Given the description of an element on the screen output the (x, y) to click on. 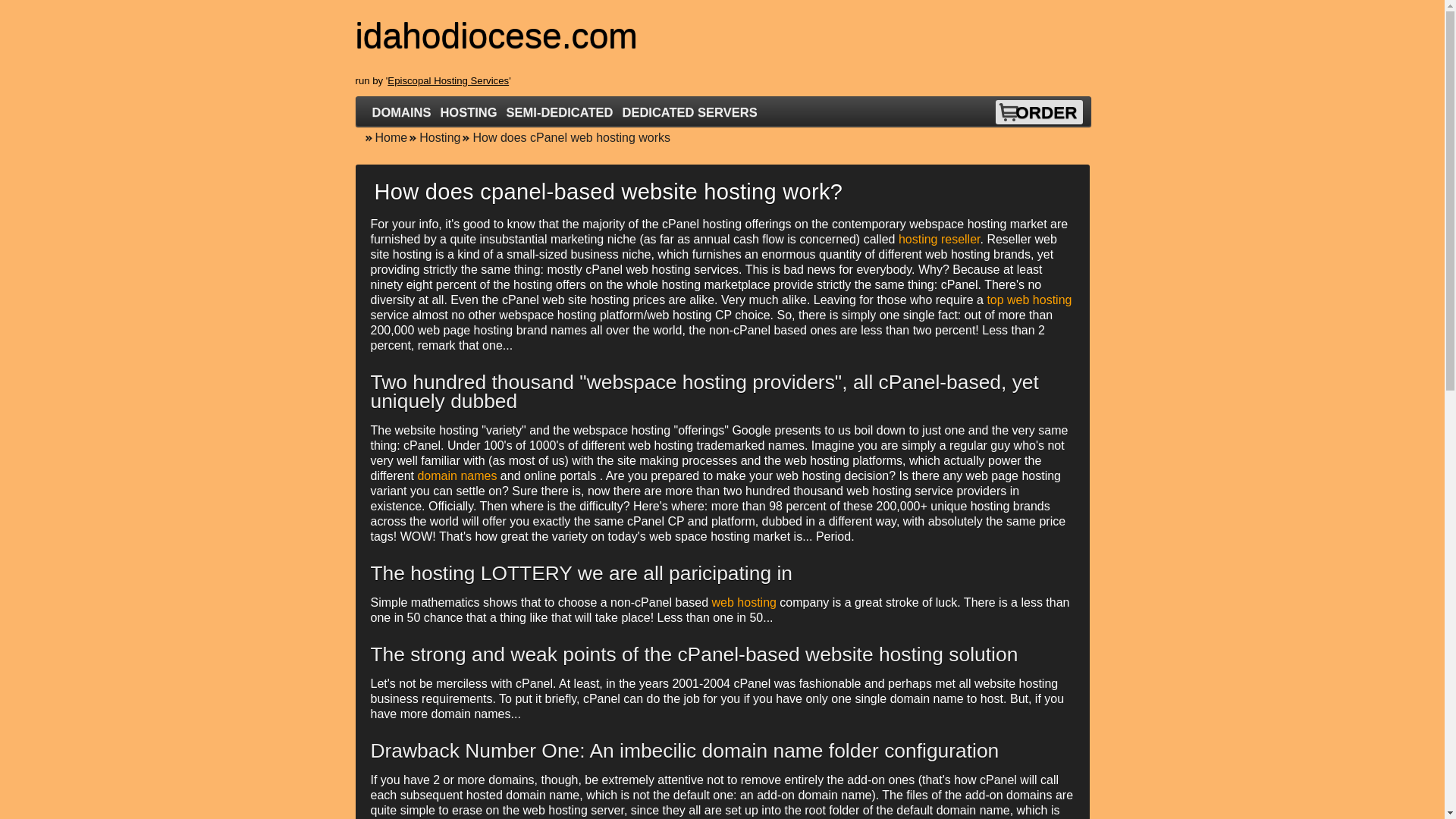
web hosting (743, 602)
Episcopal Hosting Services (447, 80)
domain names (456, 475)
hosting reseller (938, 238)
Hosting (433, 137)
HOSTING (467, 112)
top web hosting (1029, 299)
ORDER (1045, 112)
DEDICATED SERVERS (688, 112)
DOMAINS (401, 112)
SEMI-DEDICATED (559, 112)
Home (384, 137)
